Given the description of an element on the screen output the (x, y) to click on. 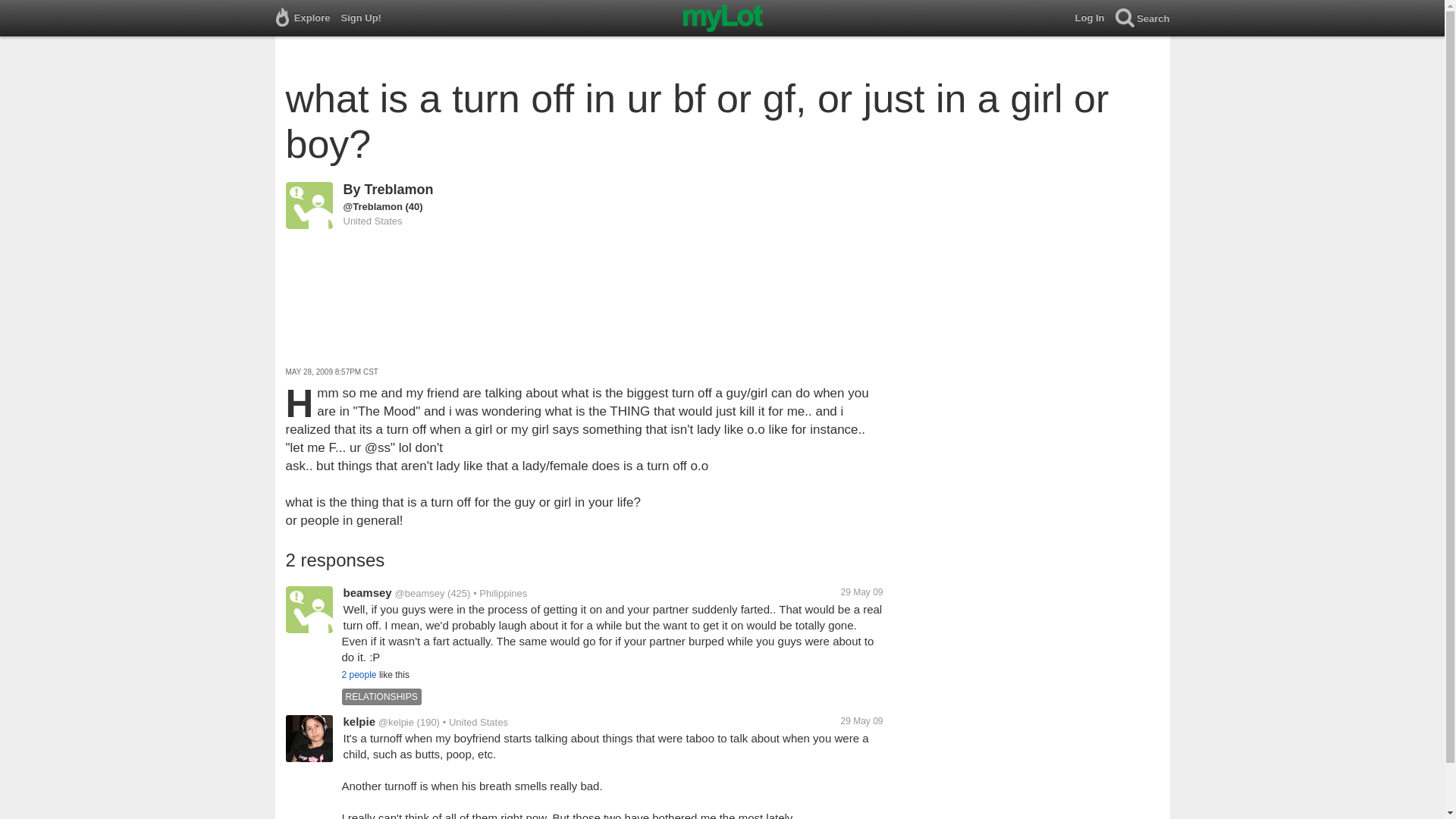
Sign Up! (365, 18)
kelpie (358, 721)
Log In (1095, 18)
2 people (357, 674)
beamsey (366, 592)
RELATIONSHIPS (382, 696)
Treblamon (399, 189)
